Given the description of an element on the screen output the (x, y) to click on. 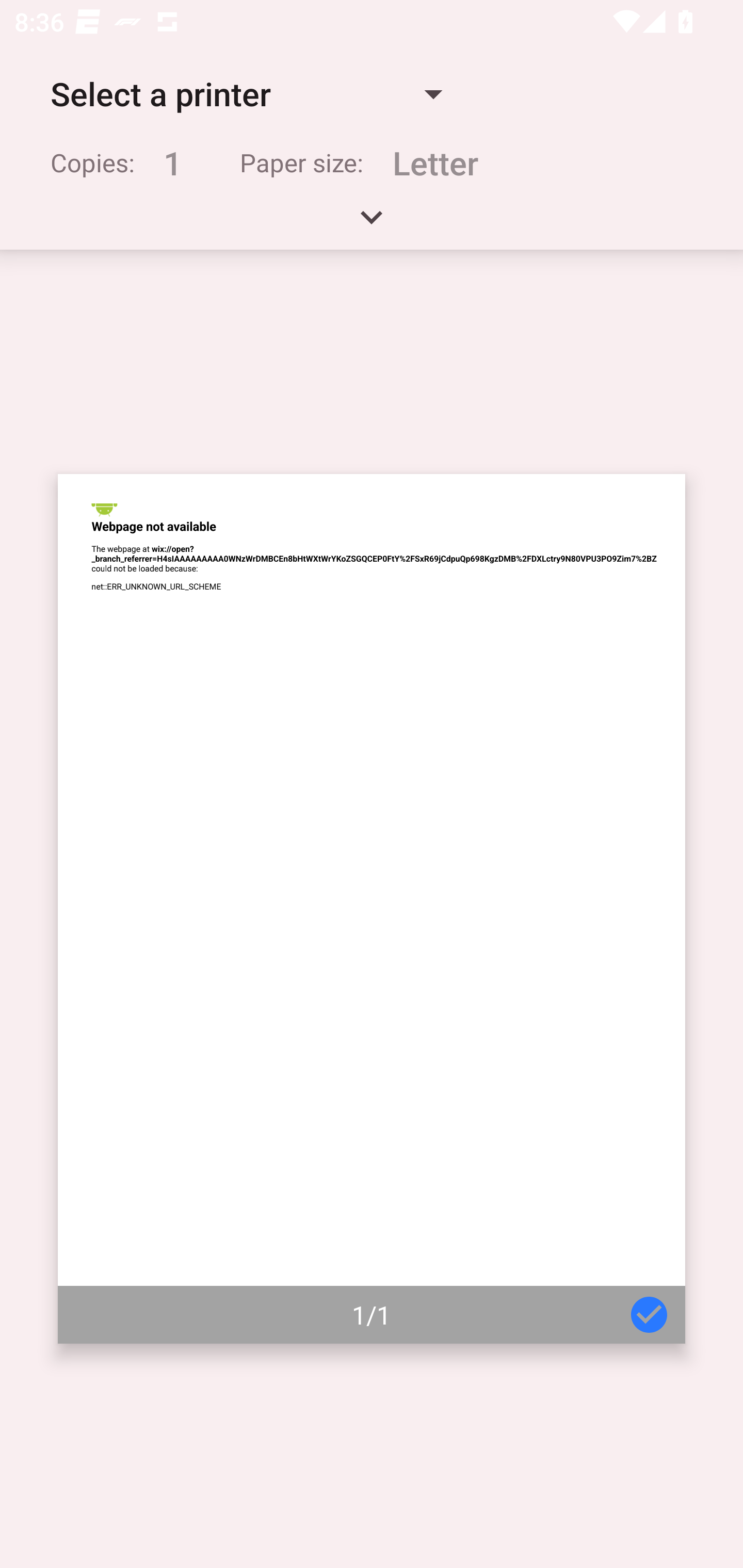
Select a printer (245, 93)
Expand handle (371, 224)
Page 1 of 1 1/1 (371, 908)
